Given the description of an element on the screen output the (x, y) to click on. 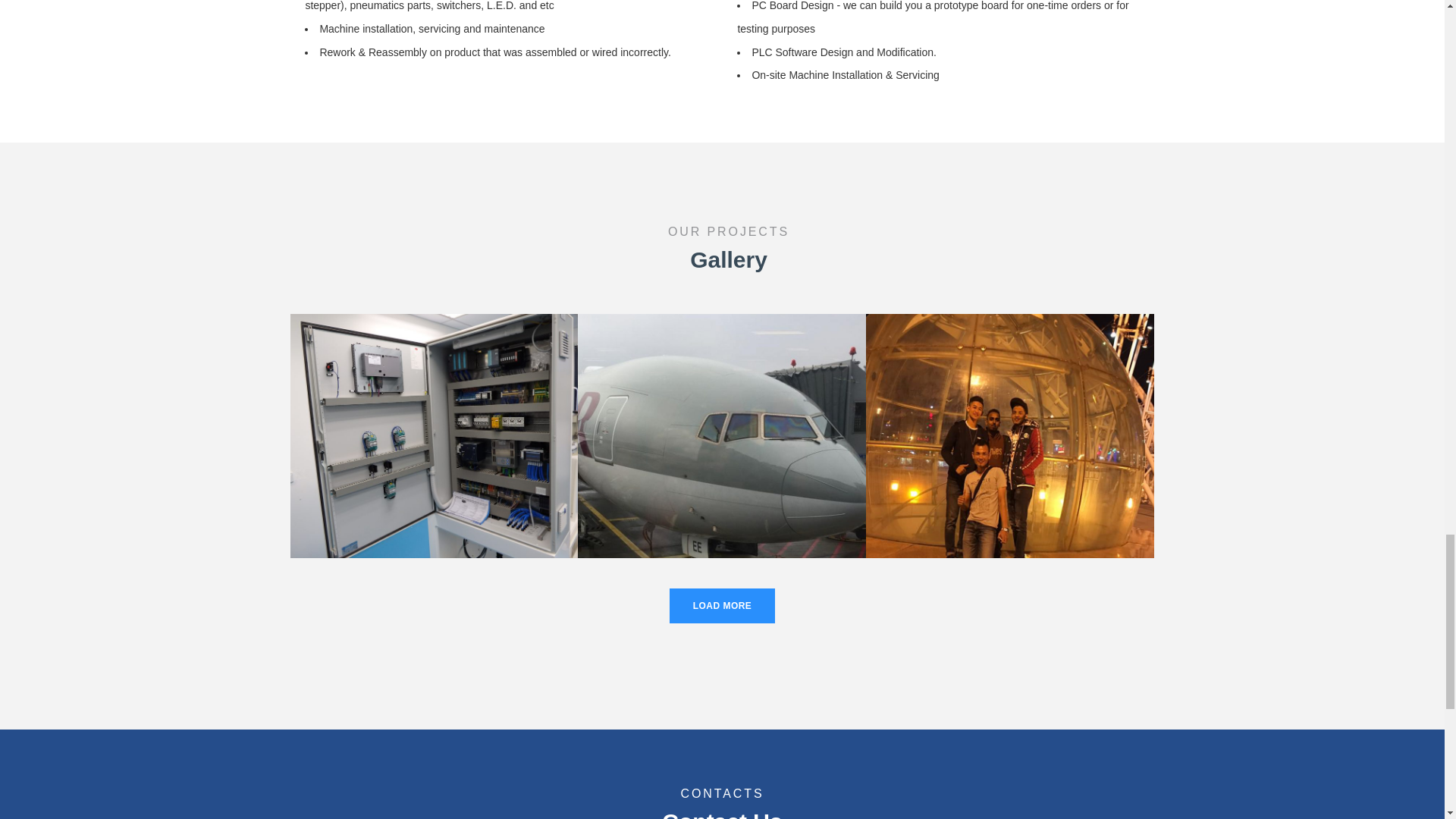
LOAD MORE (722, 605)
